Given the description of an element on the screen output the (x, y) to click on. 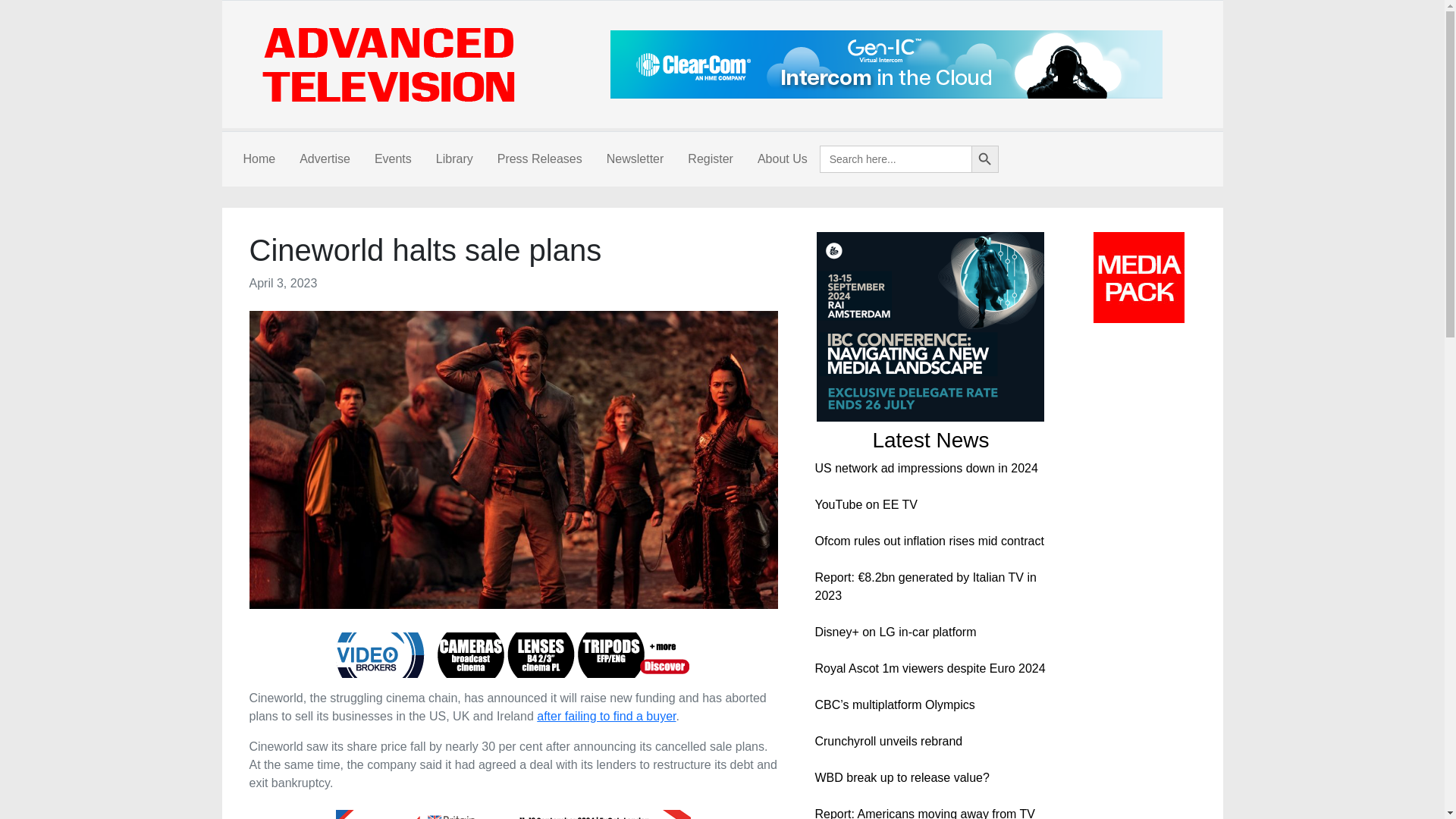
Events (392, 158)
Advertise (324, 158)
About Us (782, 158)
Library (453, 158)
Search Button (984, 158)
YouTube on EE TV (865, 504)
Register (710, 158)
Ofcom rules out inflation rises mid contract (928, 540)
Home (258, 158)
after failing to find a buyer (606, 716)
Press Releases (539, 158)
Newsletter (635, 158)
US network ad impressions down in 2024 (924, 468)
